Given the description of an element on the screen output the (x, y) to click on. 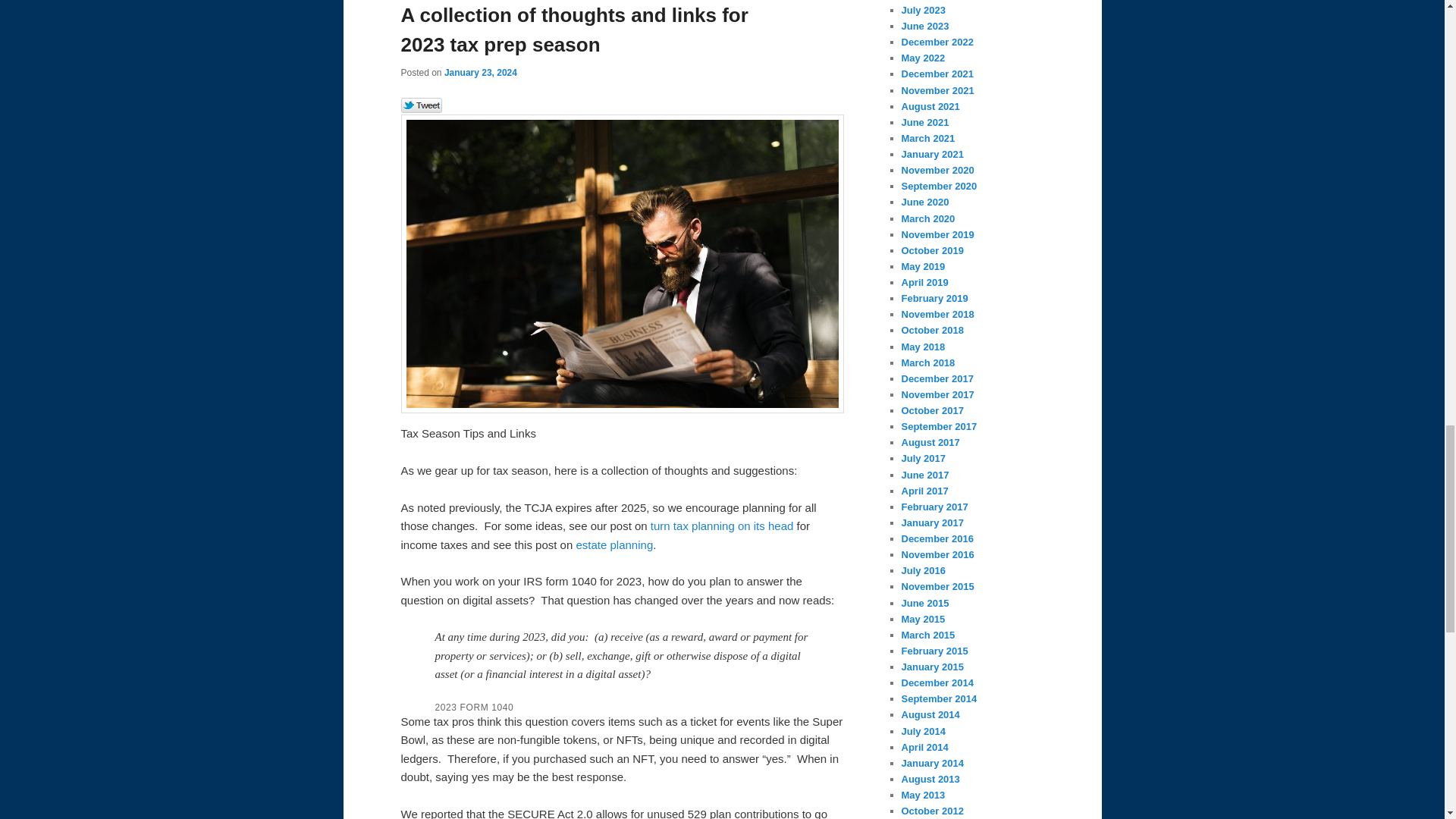
A collection of thoughts and links for 2023 tax prep season (574, 30)
12:24 pm (480, 72)
